Given the description of an element on the screen output the (x, y) to click on. 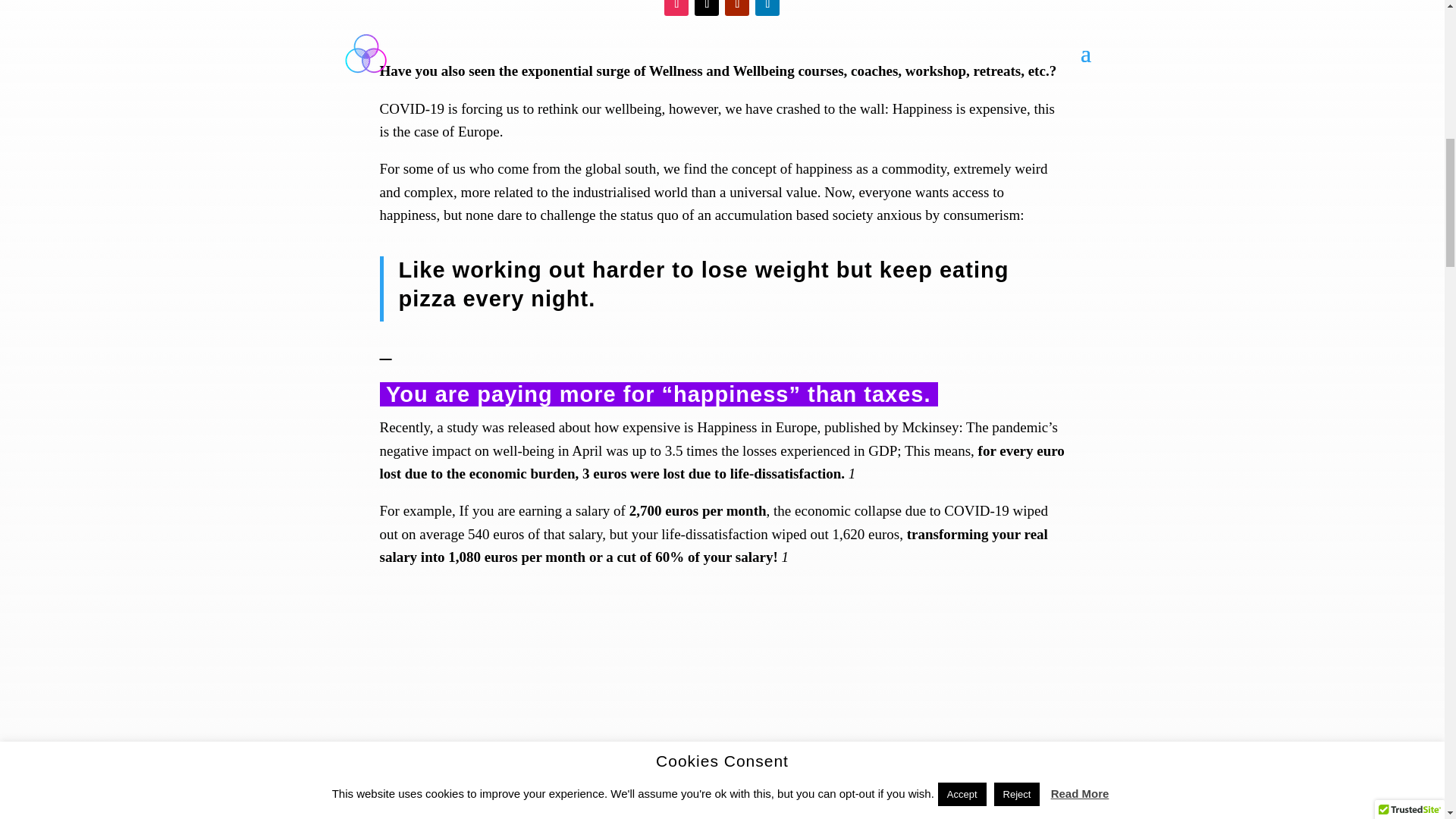
Follow on Instagram (675, 7)
Follow on Youtube (737, 7)
Follow on X (706, 7)
Follow on LinkedIn (766, 7)
